Given the description of an element on the screen output the (x, y) to click on. 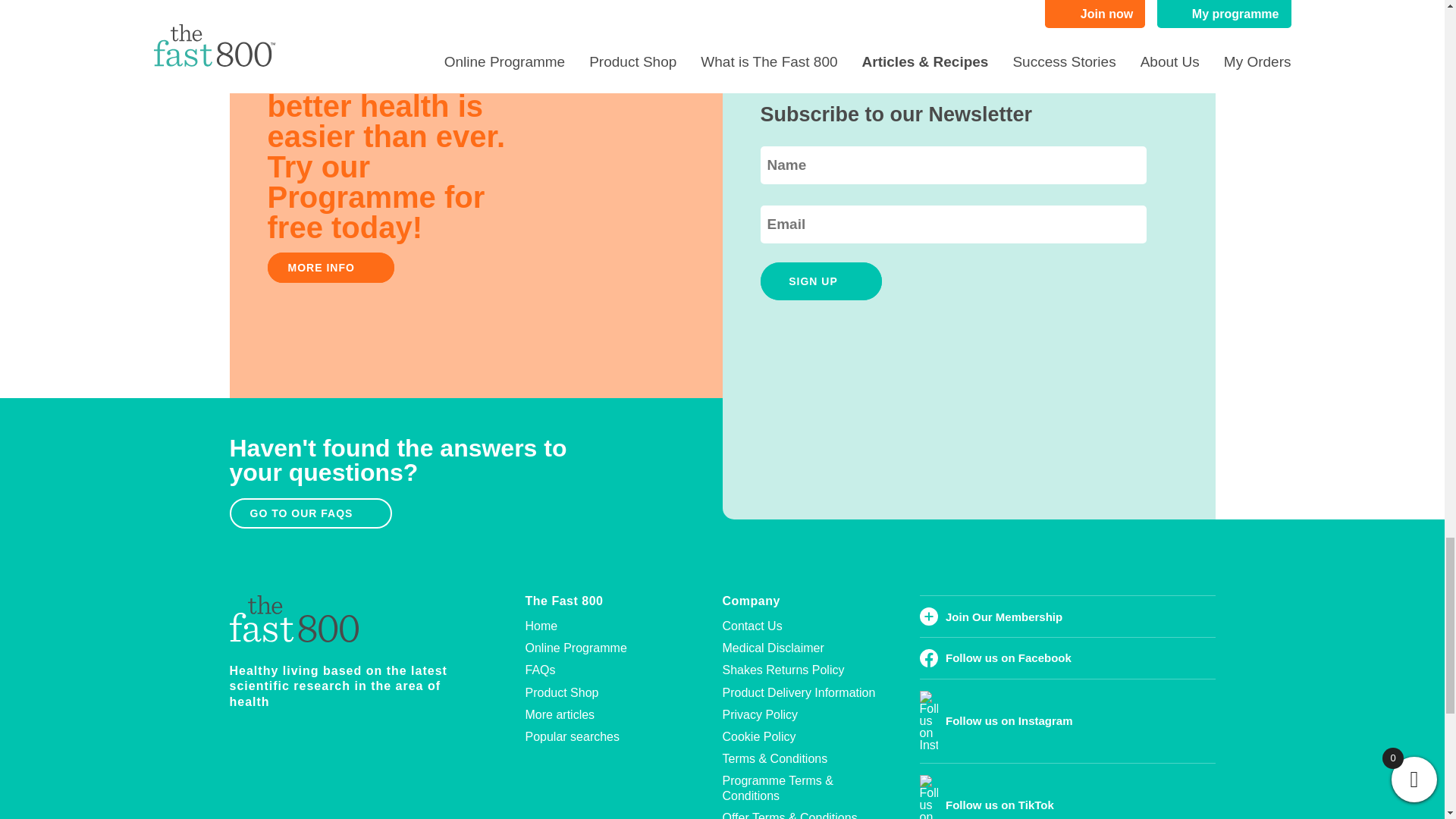
Sign up (820, 281)
